Given the description of an element on the screen output the (x, y) to click on. 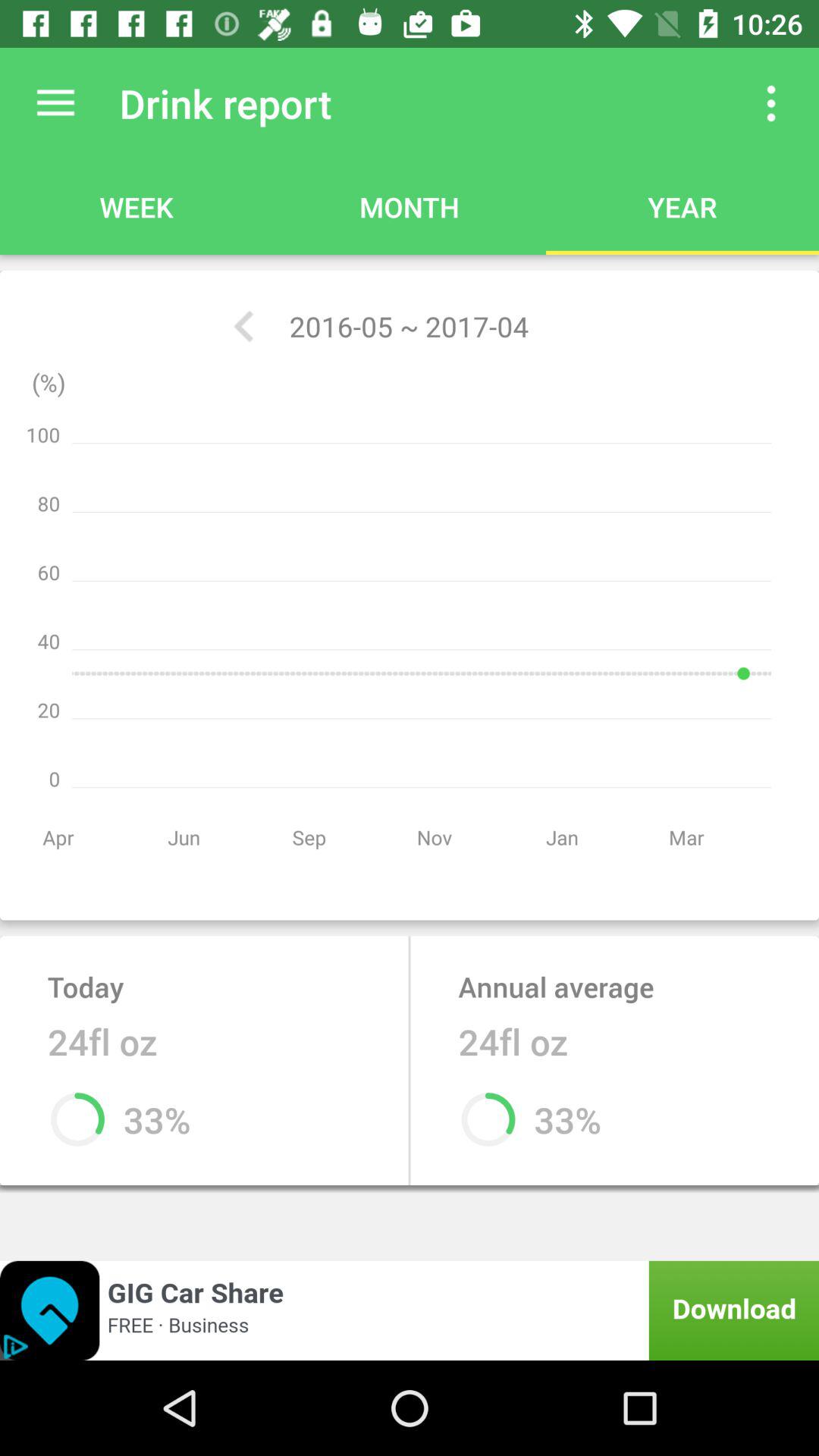
turn off the app below the drink report (243, 326)
